Given the description of an element on the screen output the (x, y) to click on. 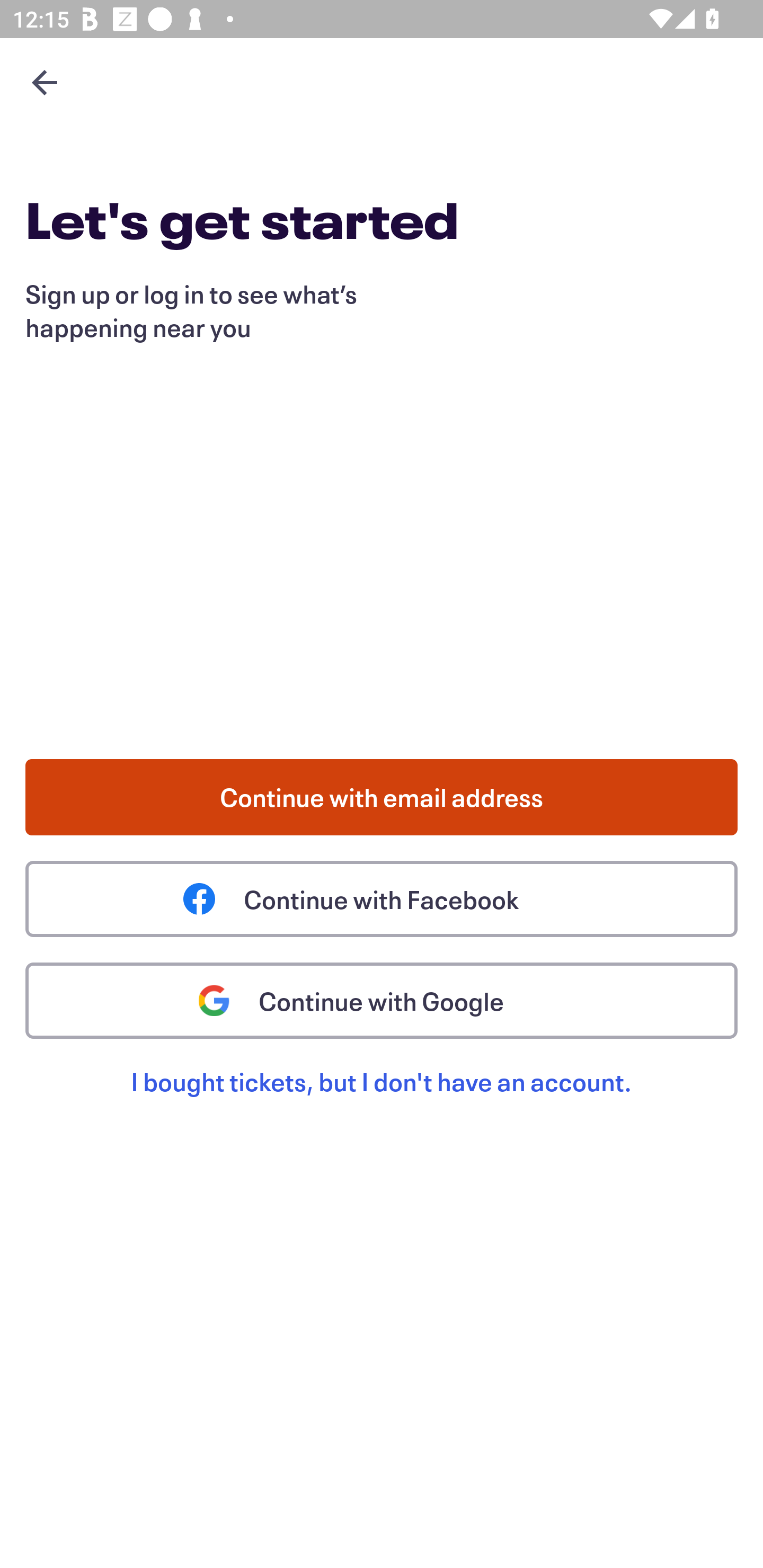
Navigate up (44, 82)
Continue with email address (381, 796)
I bought tickets, but I don't have an account. (381, 1101)
